Given the description of an element on the screen output the (x, y) to click on. 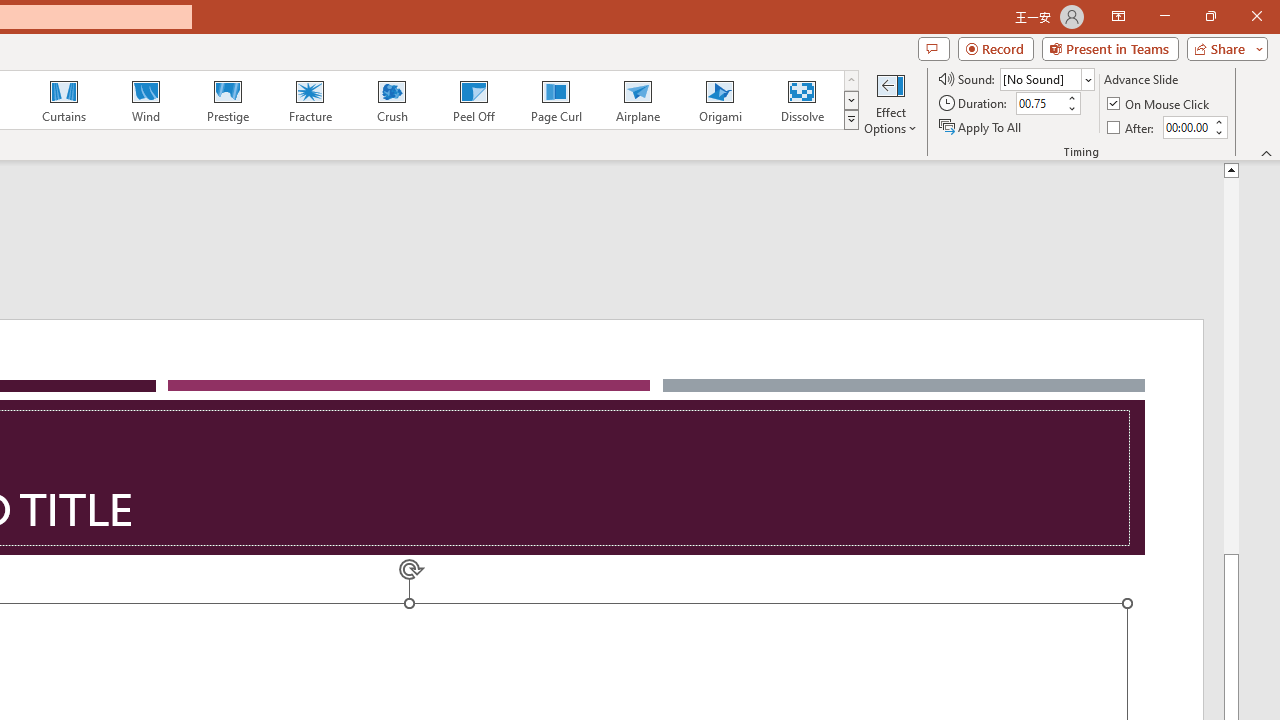
On Mouse Click (1159, 103)
Transition Effects (850, 120)
